Given the description of an element on the screen output the (x, y) to click on. 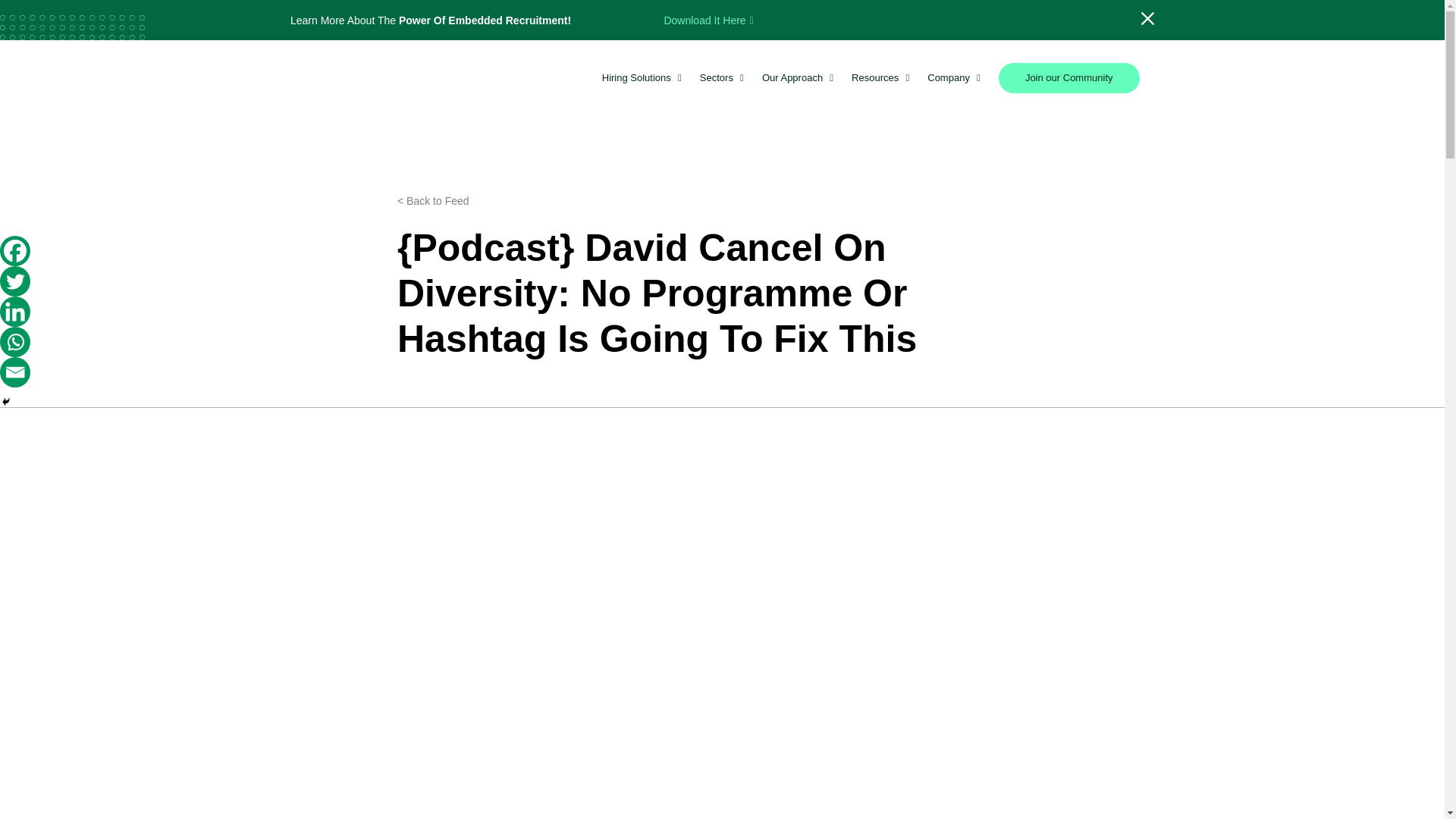
Twitter (15, 281)
Join our Community (1069, 78)
Linkedin (15, 311)
Email (15, 372)
Hide (5, 401)
Facebook (15, 250)
Whatsapp (15, 341)
